Given the description of an element on the screen output the (x, y) to click on. 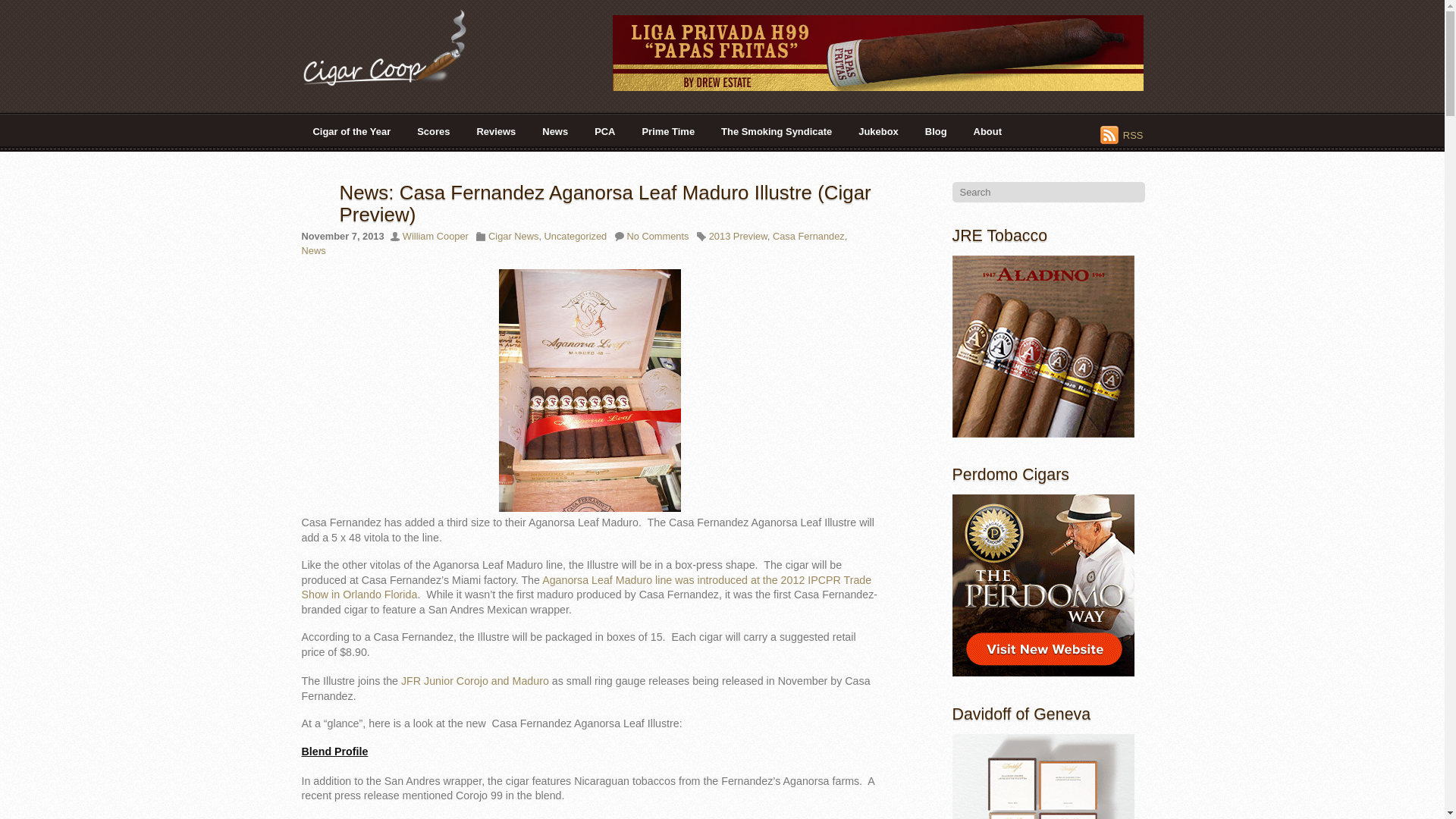
Scores (433, 131)
Cigar Coop (396, 79)
News (555, 131)
Cigar Coop (396, 46)
Cigar of the Year (352, 131)
Reviews (495, 131)
